Given the description of an element on the screen output the (x, y) to click on. 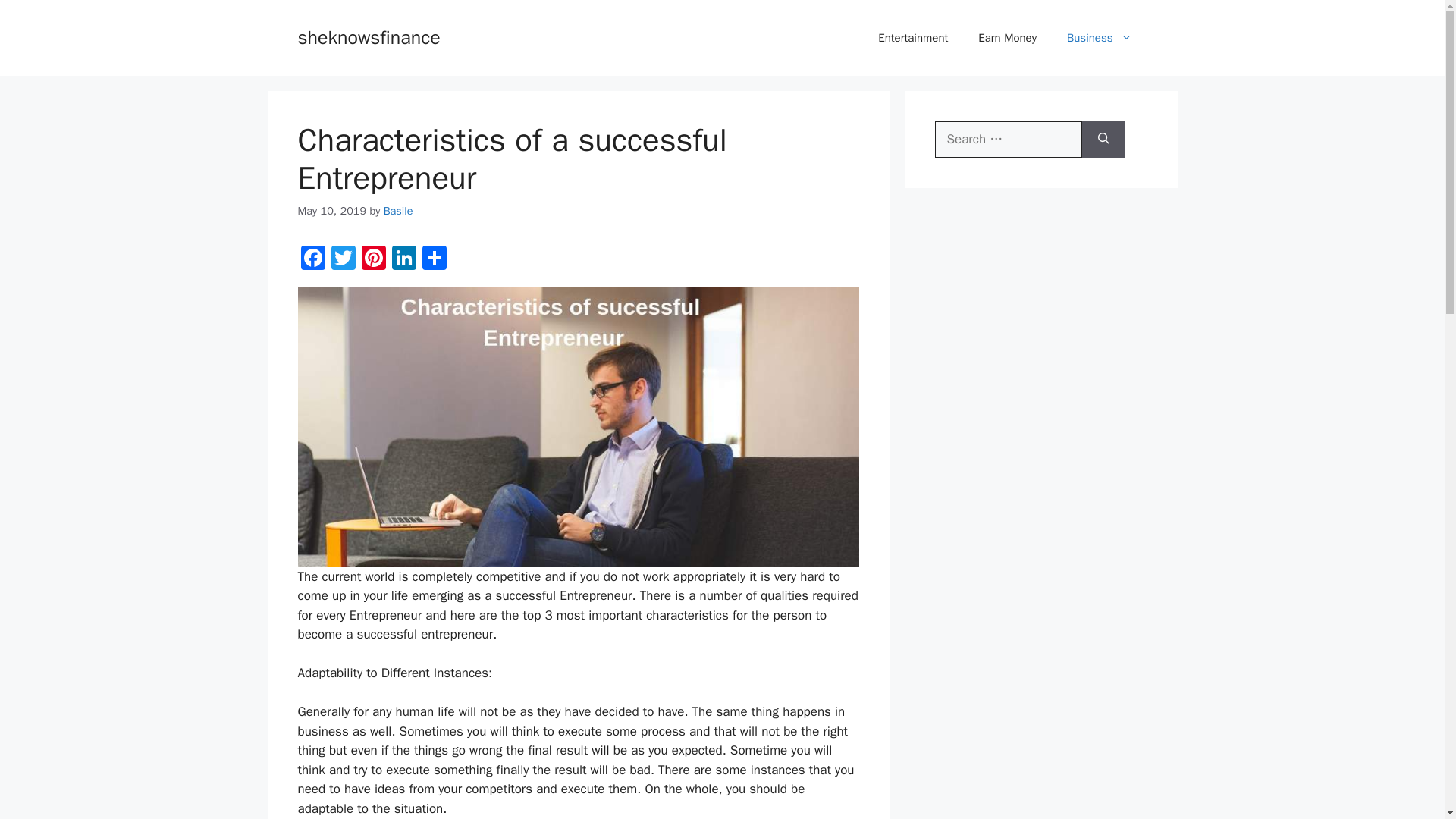
Earn Money (1006, 37)
Pinterest (373, 259)
Facebook (312, 259)
Twitter (342, 259)
Business (1099, 37)
Facebook (312, 259)
Pinterest (373, 259)
Basile (398, 210)
Entertainment (912, 37)
LinkedIn (403, 259)
